Given the description of an element on the screen output the (x, y) to click on. 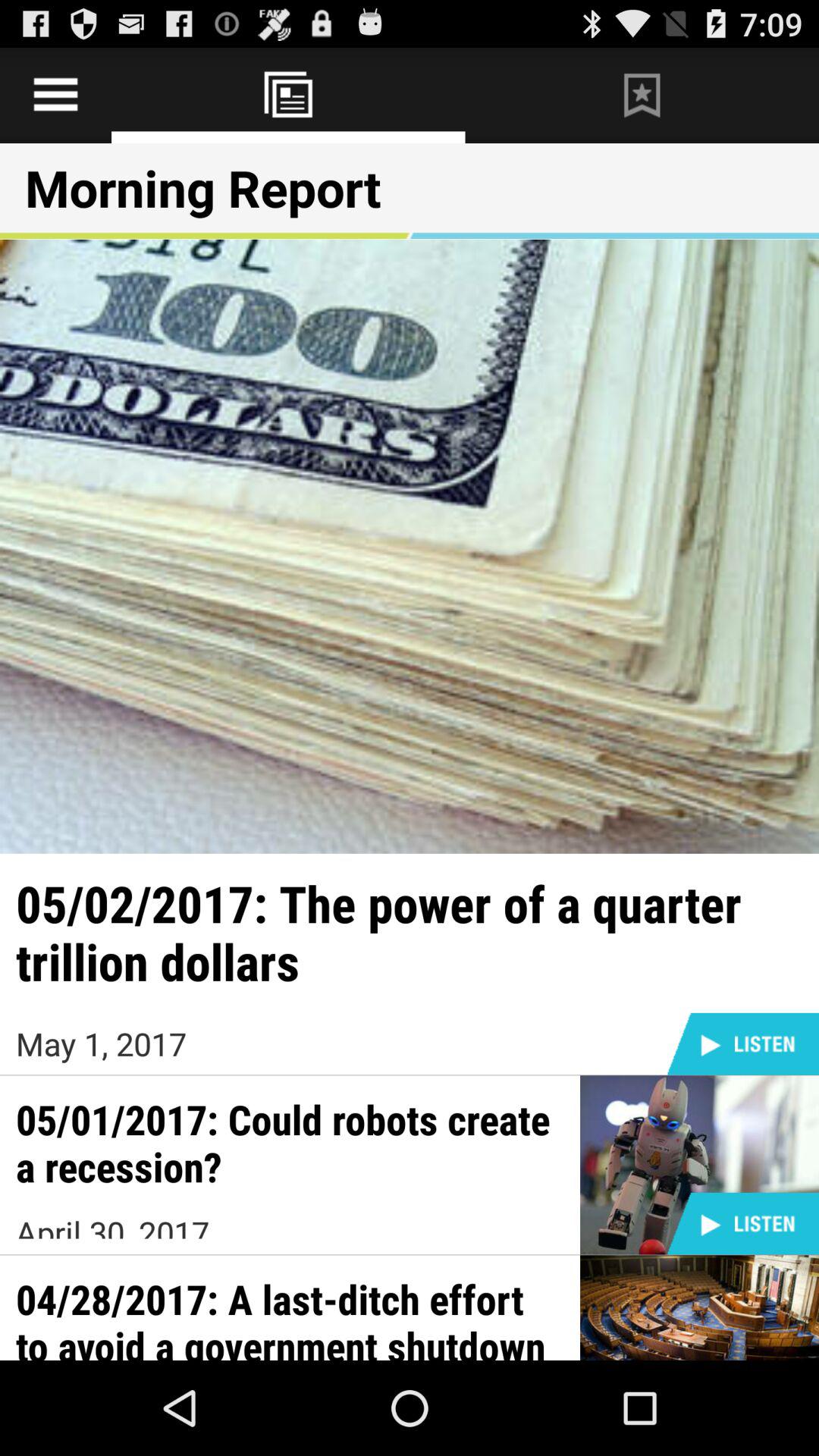
stack windows (288, 95)
